Given the description of an element on the screen output the (x, y) to click on. 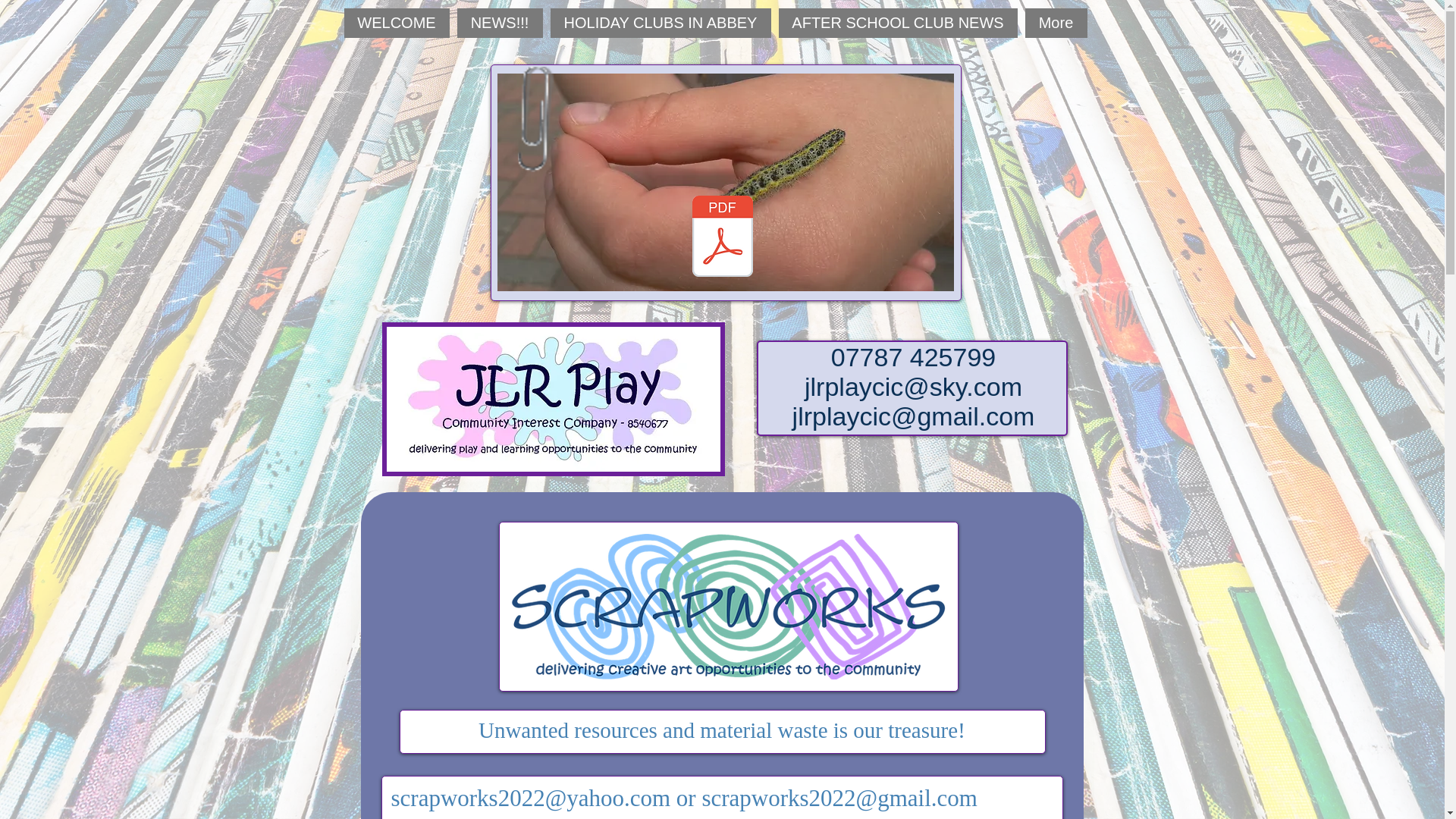
WELCOME (396, 22)
NEWS!!! (499, 22)
HOLIDAY CLUBS IN ABBEY (660, 22)
LOGO - WEB.jpg (553, 398)
AFTER SCHOOL CLUB NEWS (896, 22)
